Given the description of an element on the screen output the (x, y) to click on. 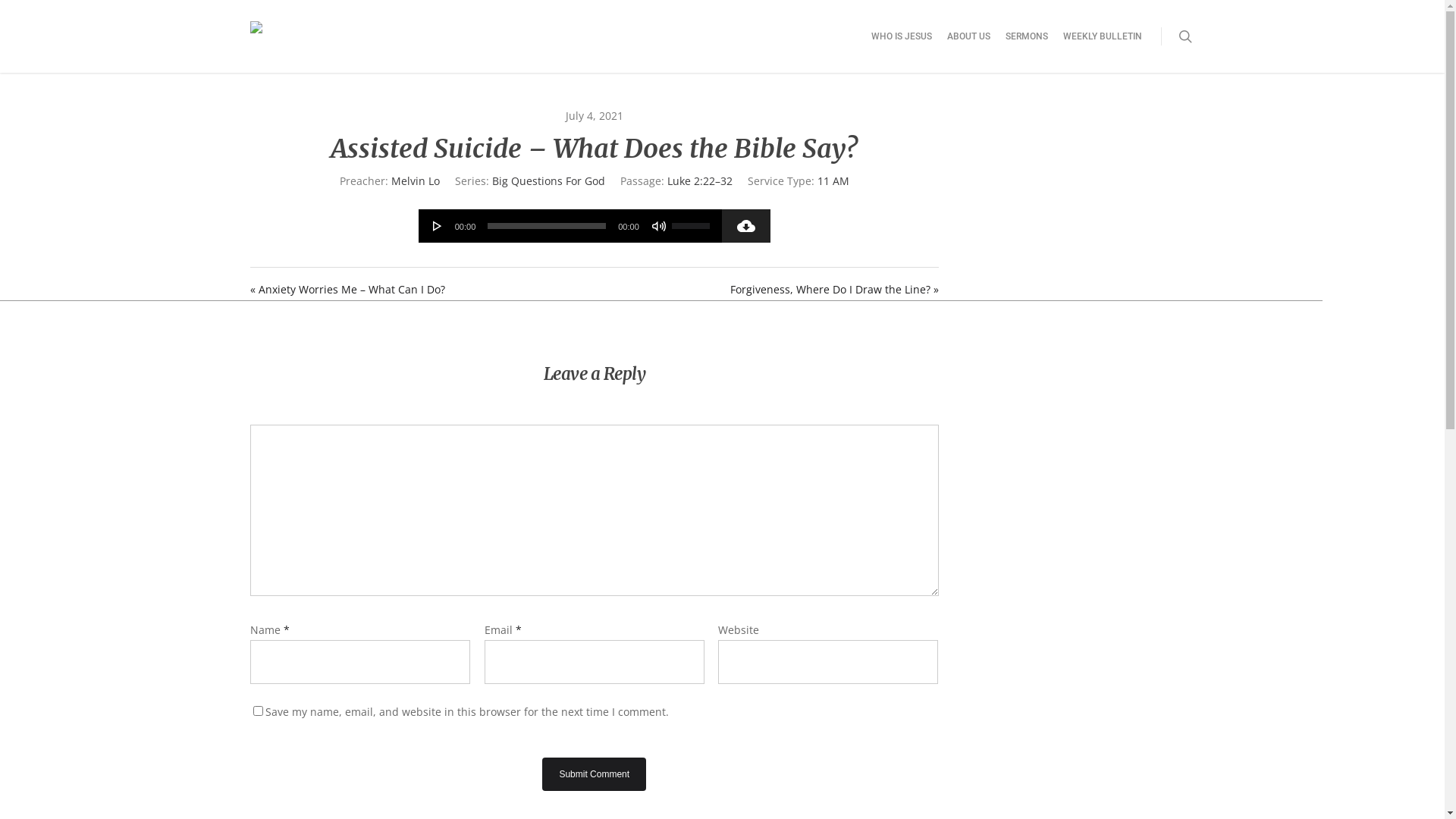
Melvin Lo Element type: text (415, 180)
Big Questions For God Element type: text (548, 180)
Play Element type: hover (437, 225)
Mute Element type: hover (658, 225)
Download Audio File Element type: hover (745, 225)
WEEKLY BULLETIN Element type: text (1102, 46)
Submit Comment Element type: text (594, 773)
WHO IS JESUS Element type: text (901, 46)
ABOUT US Element type: text (968, 46)
SERMONS Element type: text (1026, 46)
Use Up/Down Arrow keys to increase or decrease volume. Element type: text (692, 224)
11 AM Element type: text (833, 180)
